Given the description of an element on the screen output the (x, y) to click on. 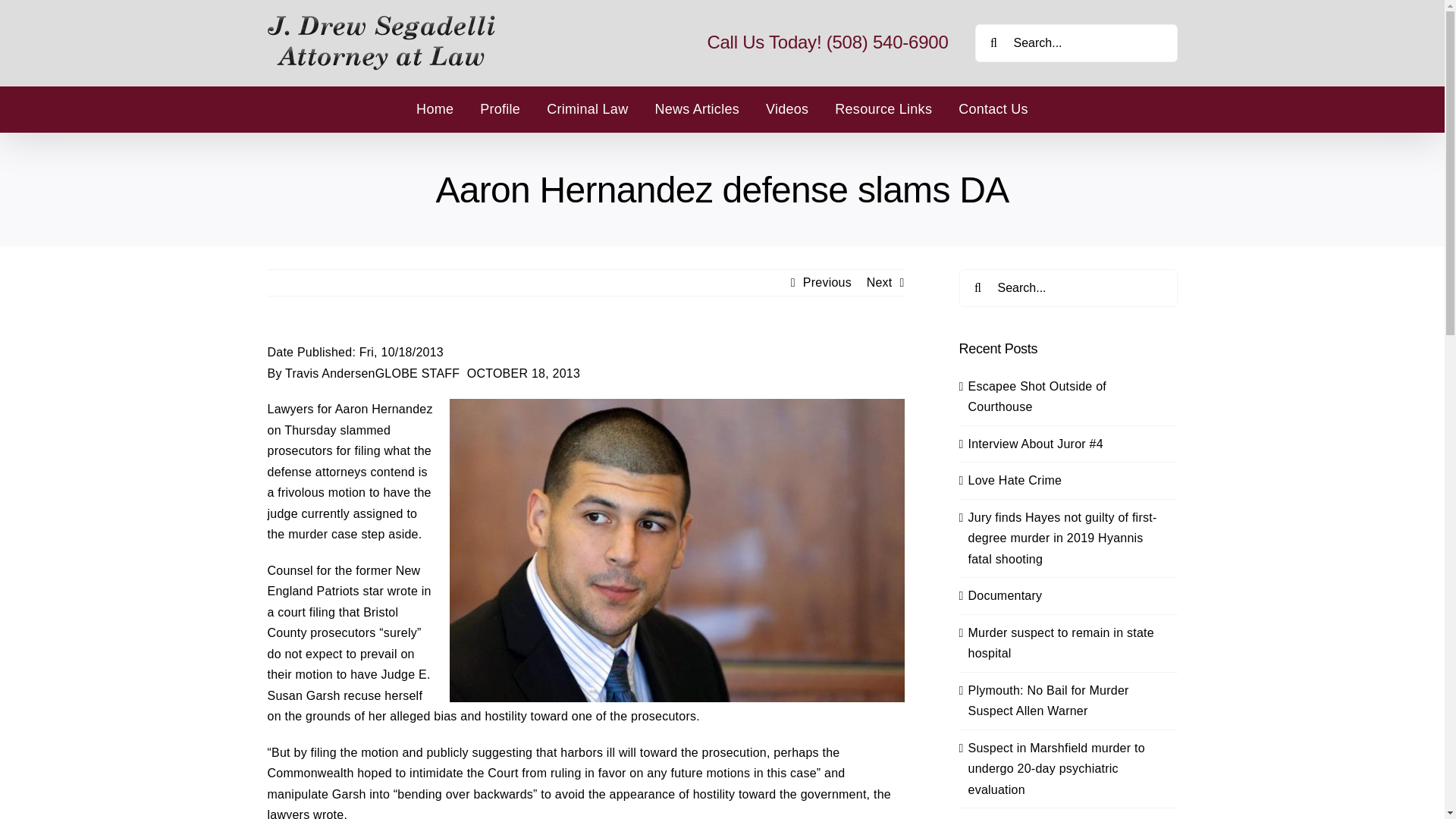
Videos (786, 108)
Contact Us (992, 108)
Criminal Law (587, 108)
Resource Links (882, 108)
News Articles (696, 108)
